Given the description of an element on the screen output the (x, y) to click on. 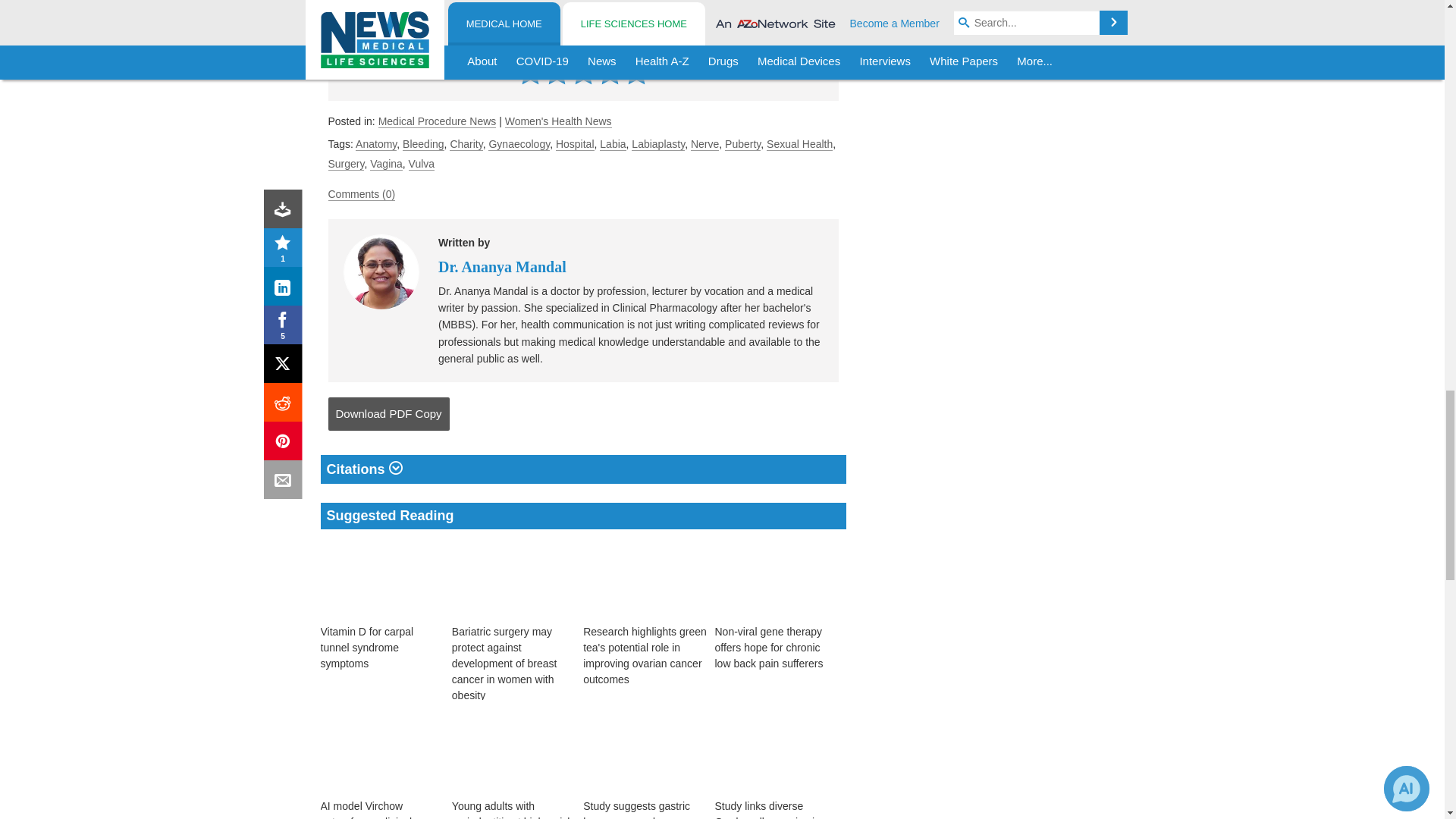
Rate this 5 stars out of 5 (636, 71)
